Given the description of an element on the screen output the (x, y) to click on. 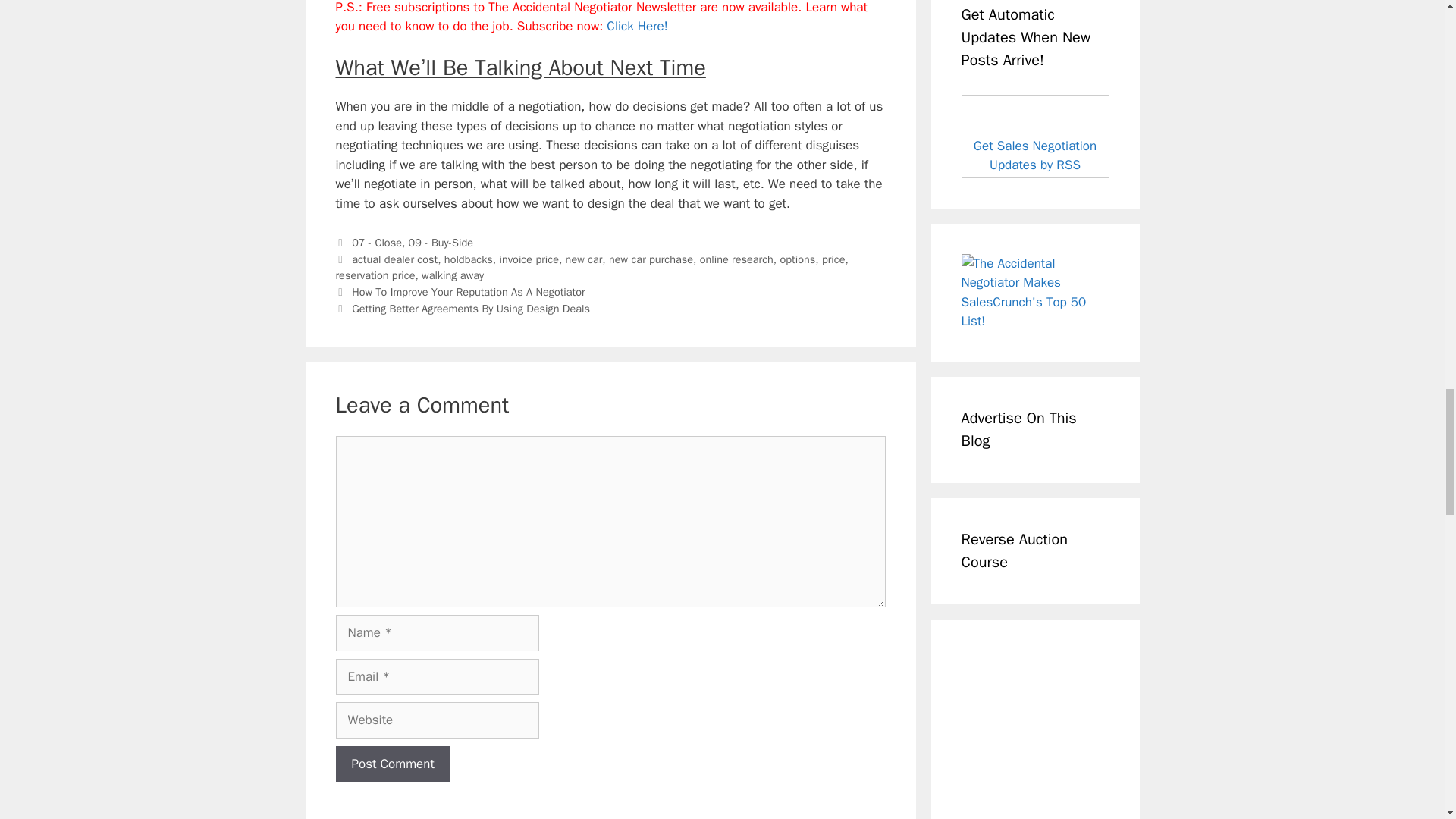
Subscribe to my feed (1034, 136)
Subscribe to The Accidental Negotiator Newsletter (636, 26)
new car (584, 259)
Getting Better Agreements By Using Design Deals (470, 308)
invoice price (529, 259)
Post Comment (391, 764)
price (833, 259)
new car purchase (650, 259)
Get Sales Negotiation Updates by RSS (1035, 155)
reservation price (374, 274)
How To Improve Your Reputation As A Negotiator (468, 291)
09 - Buy-Side (441, 242)
The Accidental Negotiator Makes SalesCrunch's Top 50 List! (1034, 292)
walking away (452, 274)
online research (736, 259)
